Given the description of an element on the screen output the (x, y) to click on. 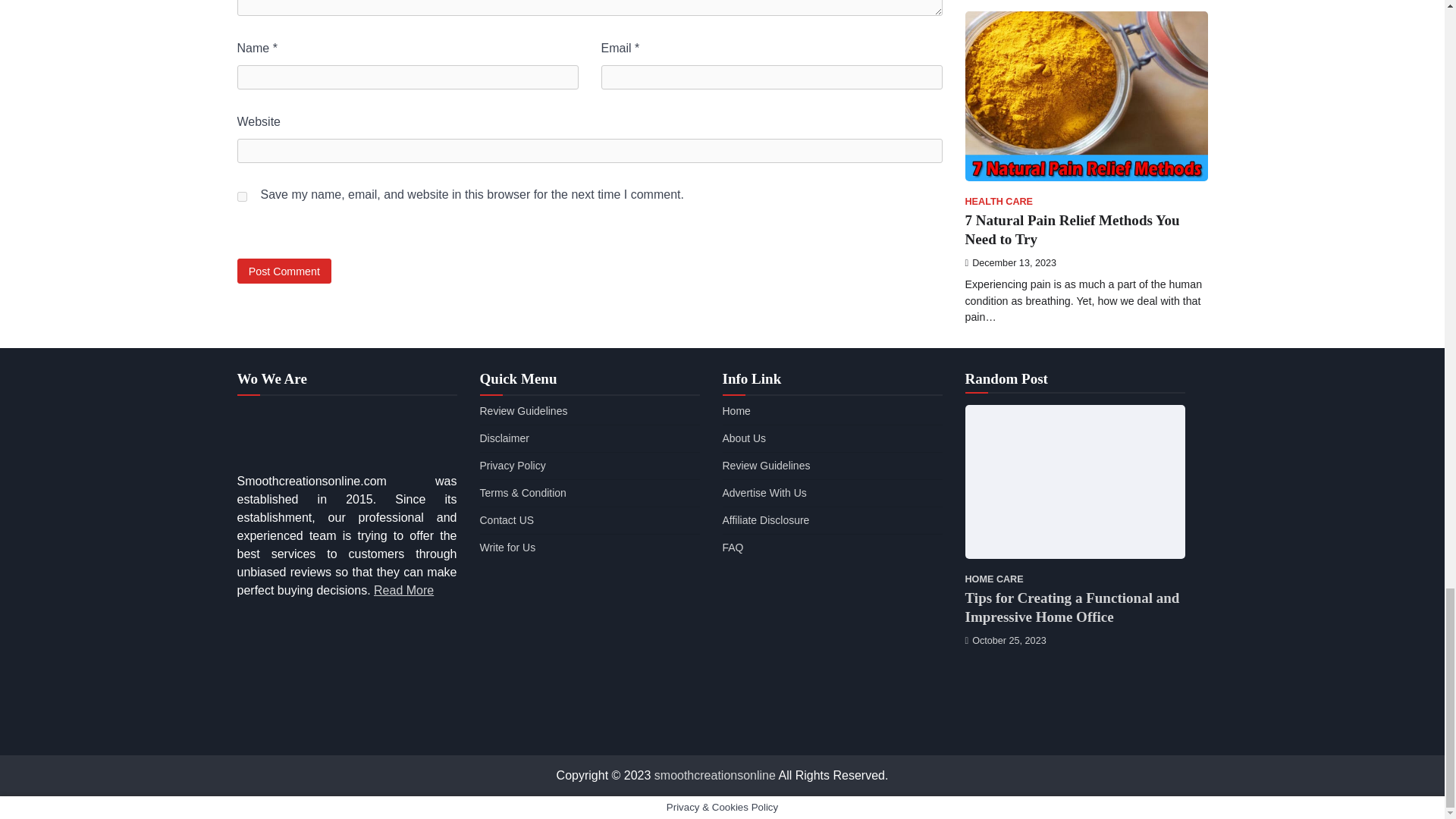
yes (240, 196)
DMCA.com Protection Status (346, 727)
Post Comment (283, 270)
Post Comment (283, 270)
